Given the description of an element on the screen output the (x, y) to click on. 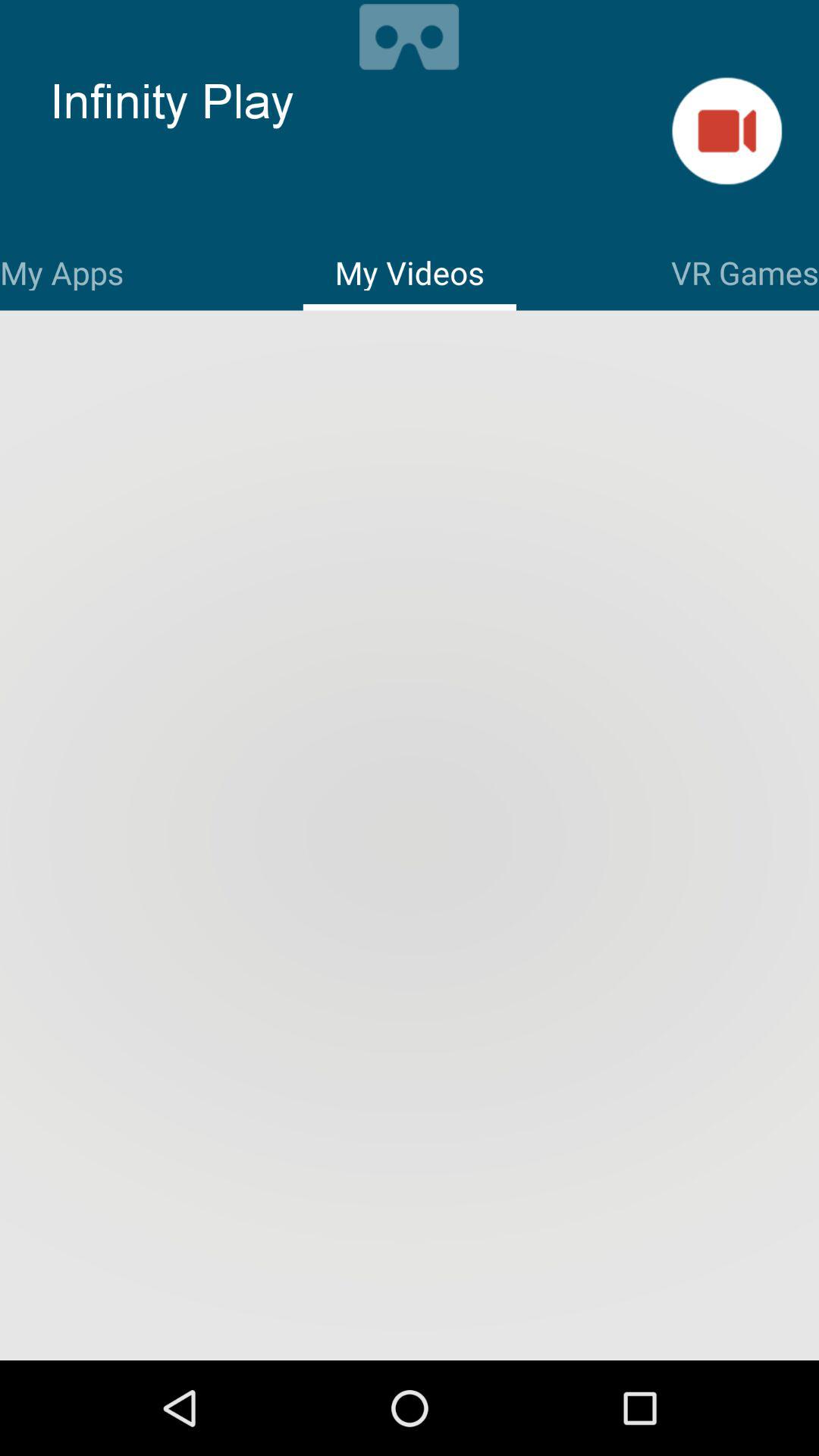
press the item next to my videos icon (745, 270)
